Given the description of an element on the screen output the (x, y) to click on. 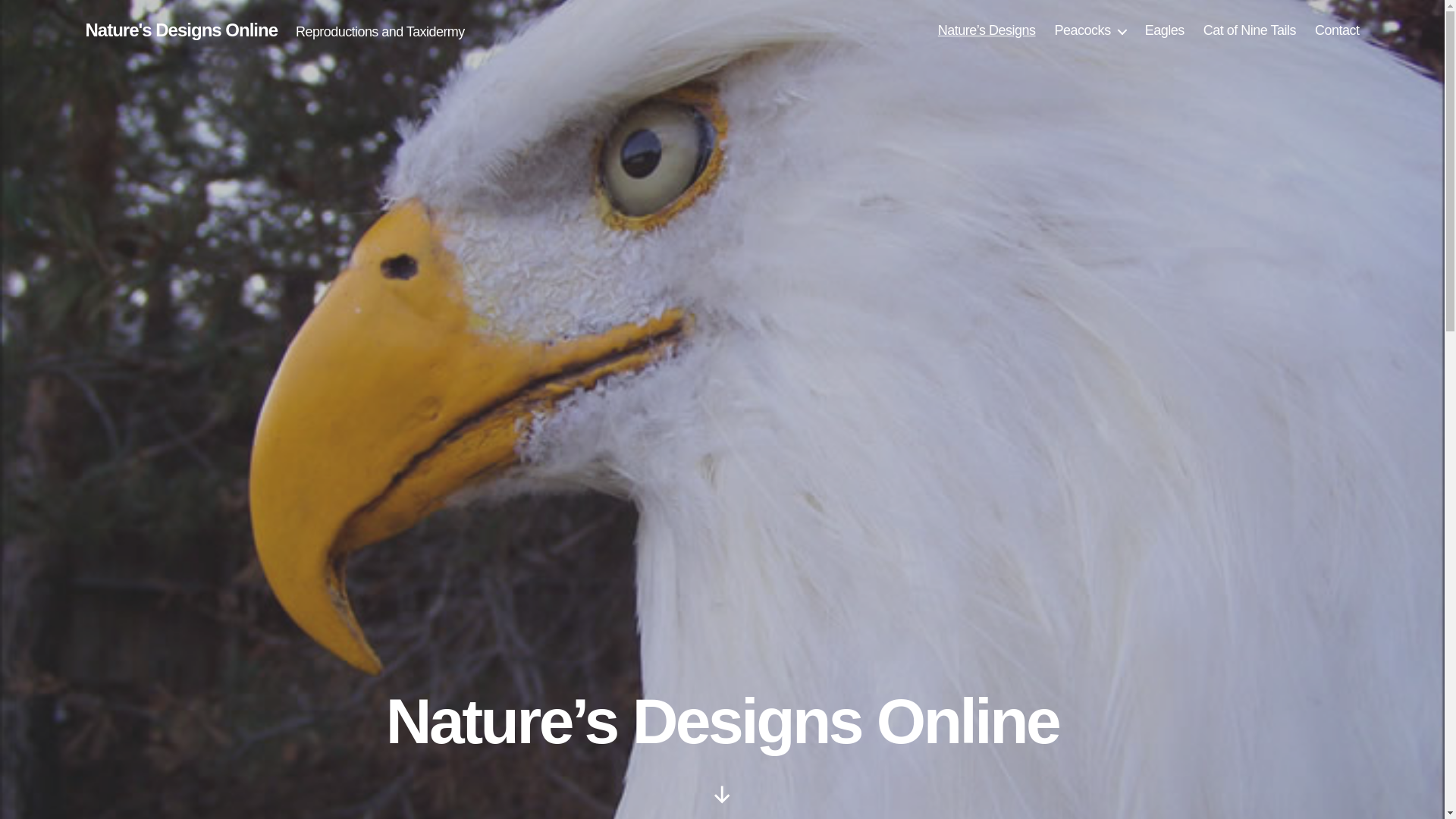
Nature's Designs Online (181, 30)
Peacocks (1089, 30)
Contact (1336, 30)
Eagles (1164, 30)
Cat of Nine Tails (1249, 30)
